Given the description of an element on the screen output the (x, y) to click on. 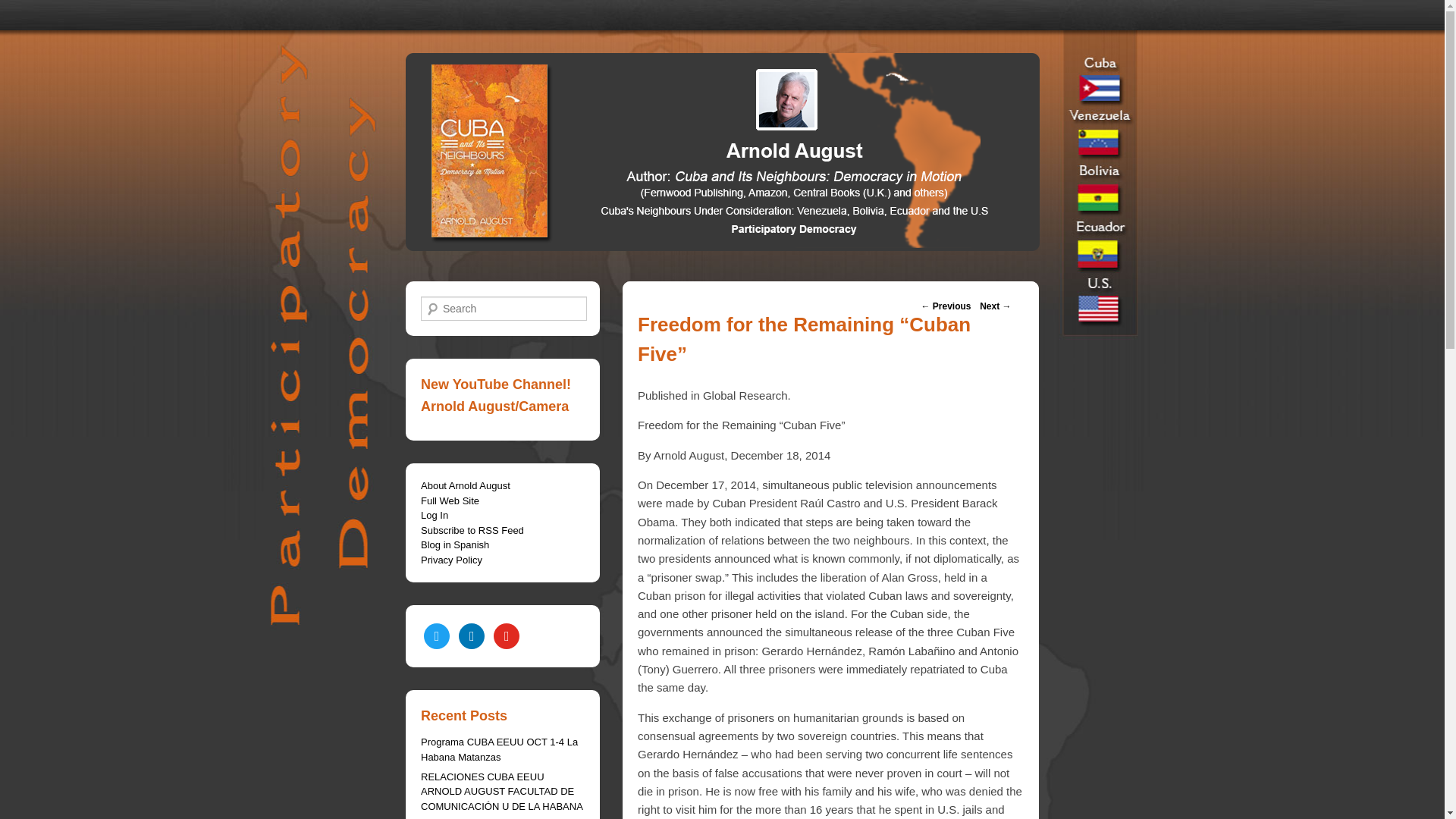
Privacy Policy (450, 559)
Programa CUBA EEUU OCT 1-4 La Habana Matanzas (499, 749)
Facebook (436, 634)
Log In (434, 514)
linkedin (471, 634)
About Arnold August (465, 485)
youtube (506, 634)
Full Web Site (449, 500)
X (471, 634)
Search (21, 11)
Blog in Spanish (454, 544)
twitter (436, 634)
Instagram (506, 634)
Subscribe to RSS Feed (472, 530)
